Given the description of an element on the screen output the (x, y) to click on. 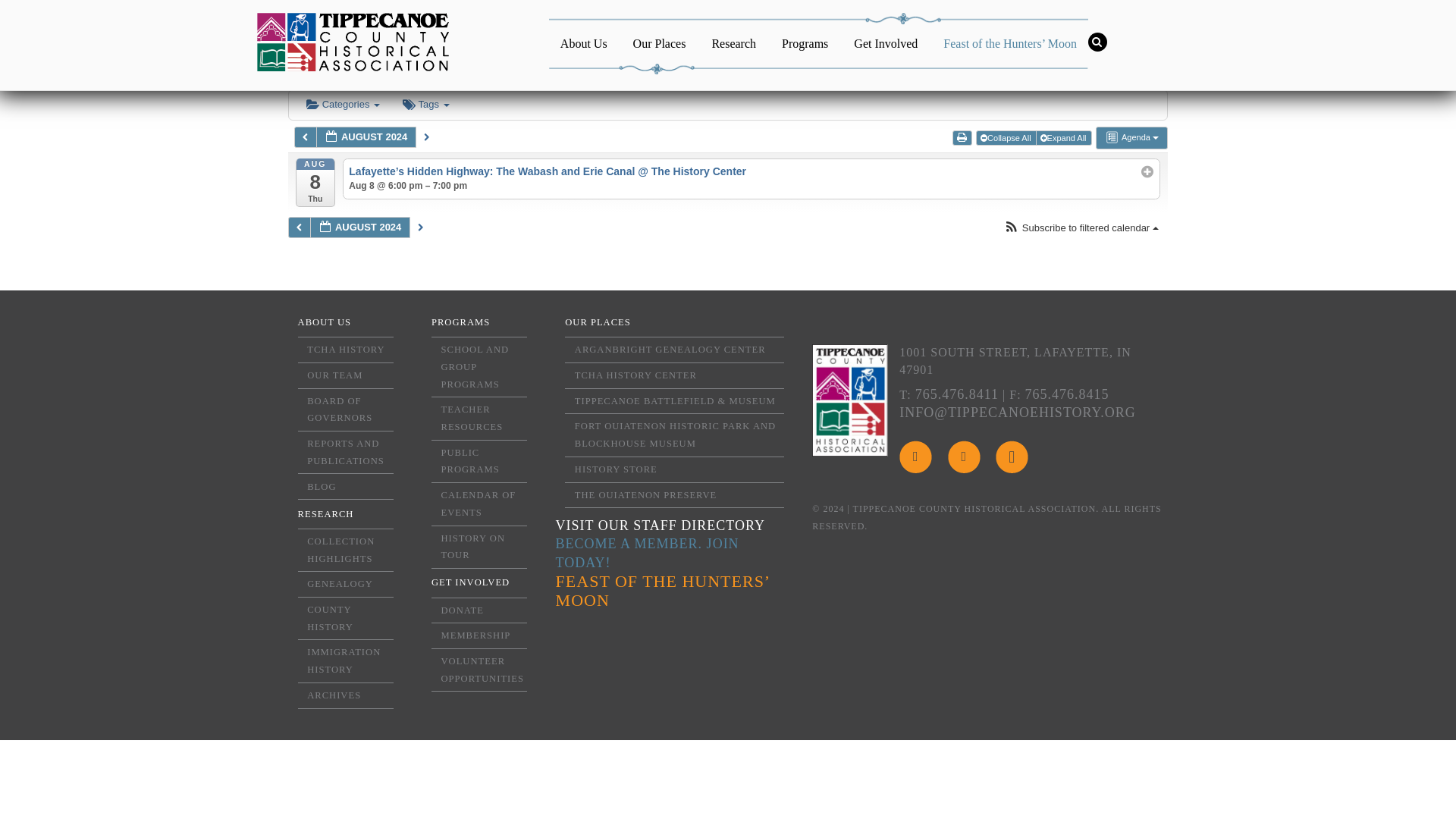
Research (733, 43)
About Us (583, 43)
Our Places (659, 43)
Get Involved (885, 43)
Categories (343, 104)
Search (1105, 41)
Tags (425, 104)
Choose a date using calendar (365, 137)
Choose a date using calendar (360, 228)
Programs (805, 43)
